Given the description of an element on the screen output the (x, y) to click on. 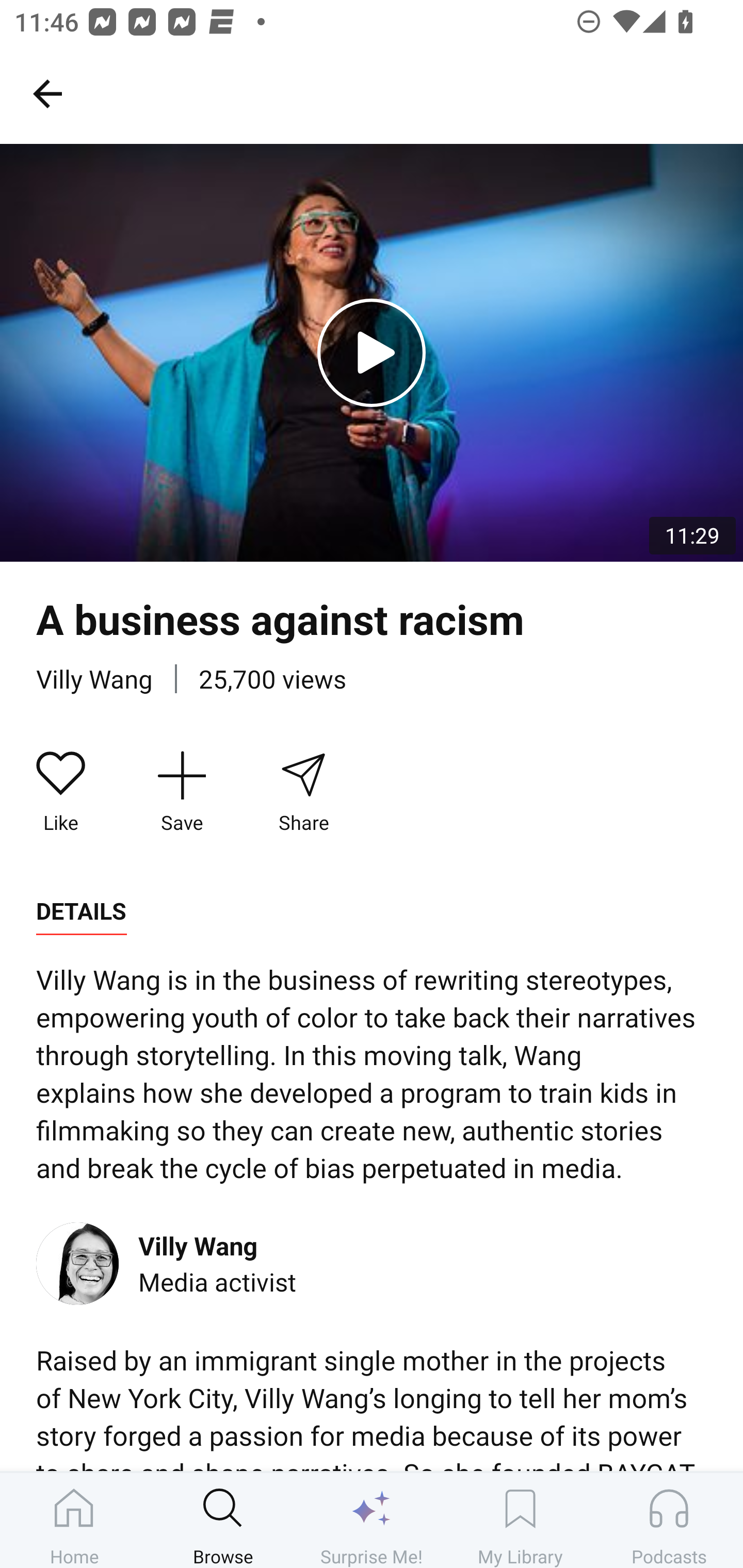
Search, back (47, 92)
Like (60, 793)
Save (181, 793)
Share (302, 793)
DETAILS (80, 911)
Home (74, 1520)
Browse (222, 1520)
Surprise Me! (371, 1520)
My Library (519, 1520)
Podcasts (668, 1520)
